Given the description of an element on the screen output the (x, y) to click on. 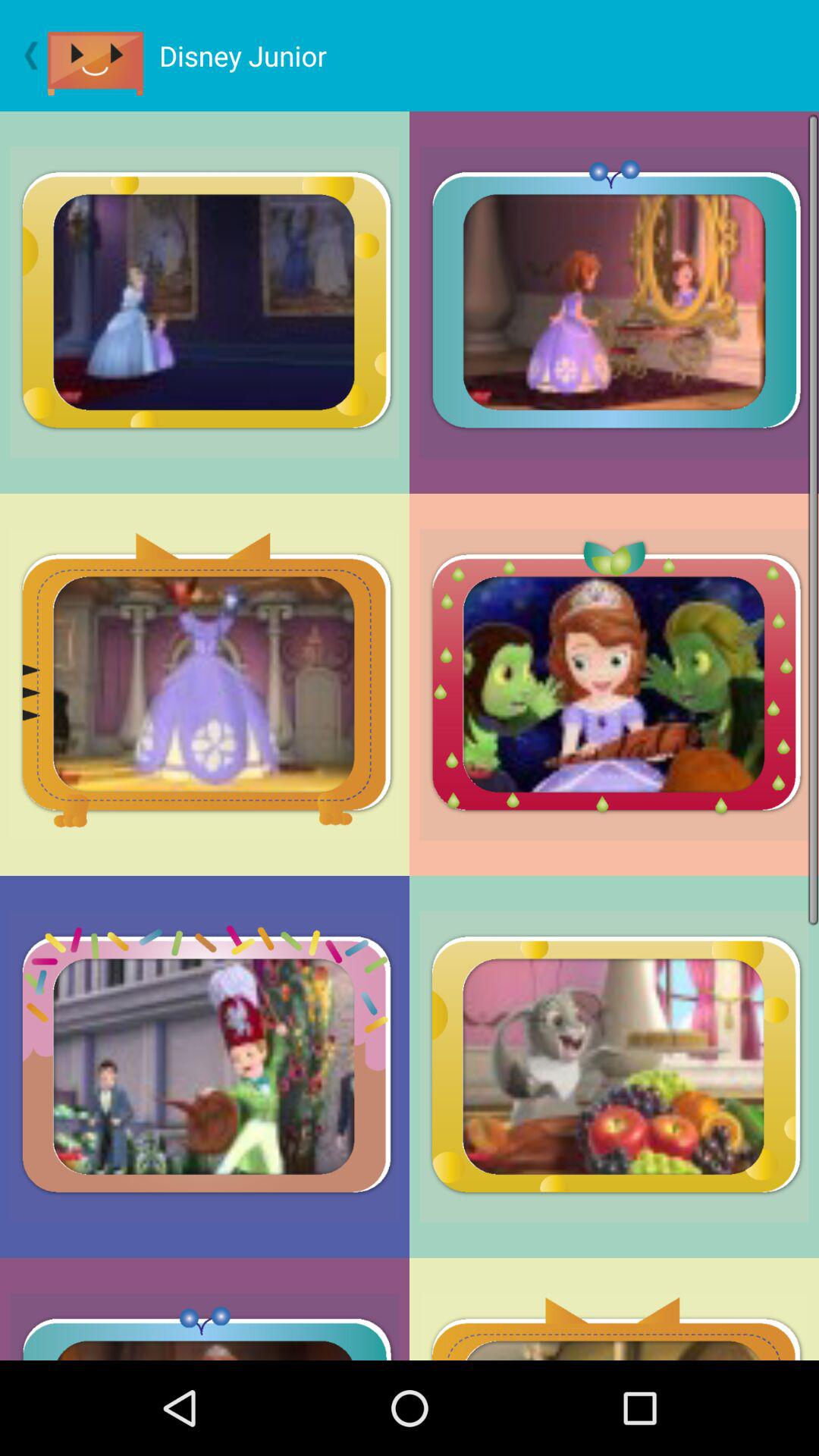
turn off item to the left of disney junior icon (103, 55)
